Given the description of an element on the screen output the (x, y) to click on. 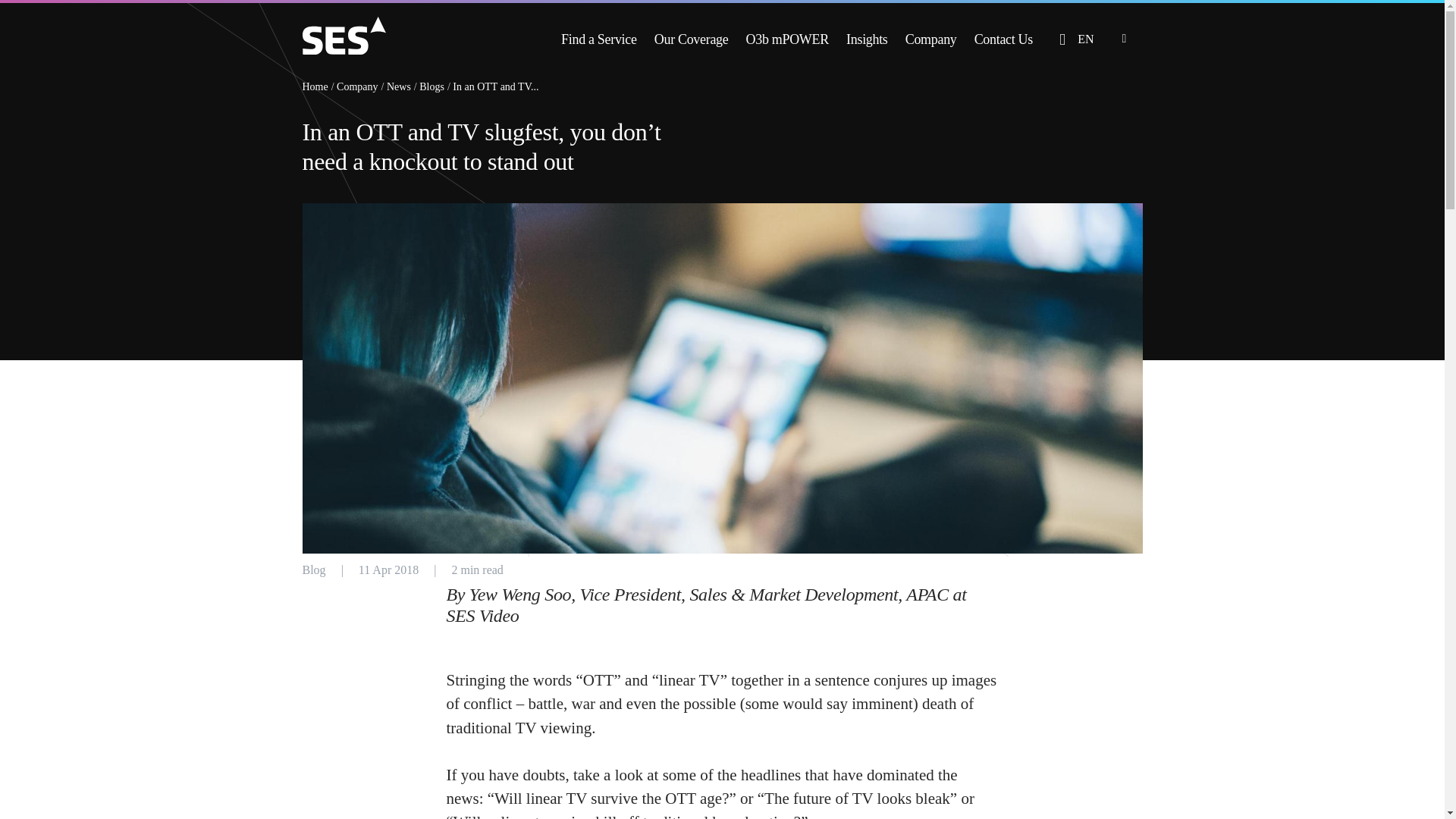
SES logo (343, 35)
Wednesday, April 11, 2018 - 09:30 (388, 569)
